Given the description of an element on the screen output the (x, y) to click on. 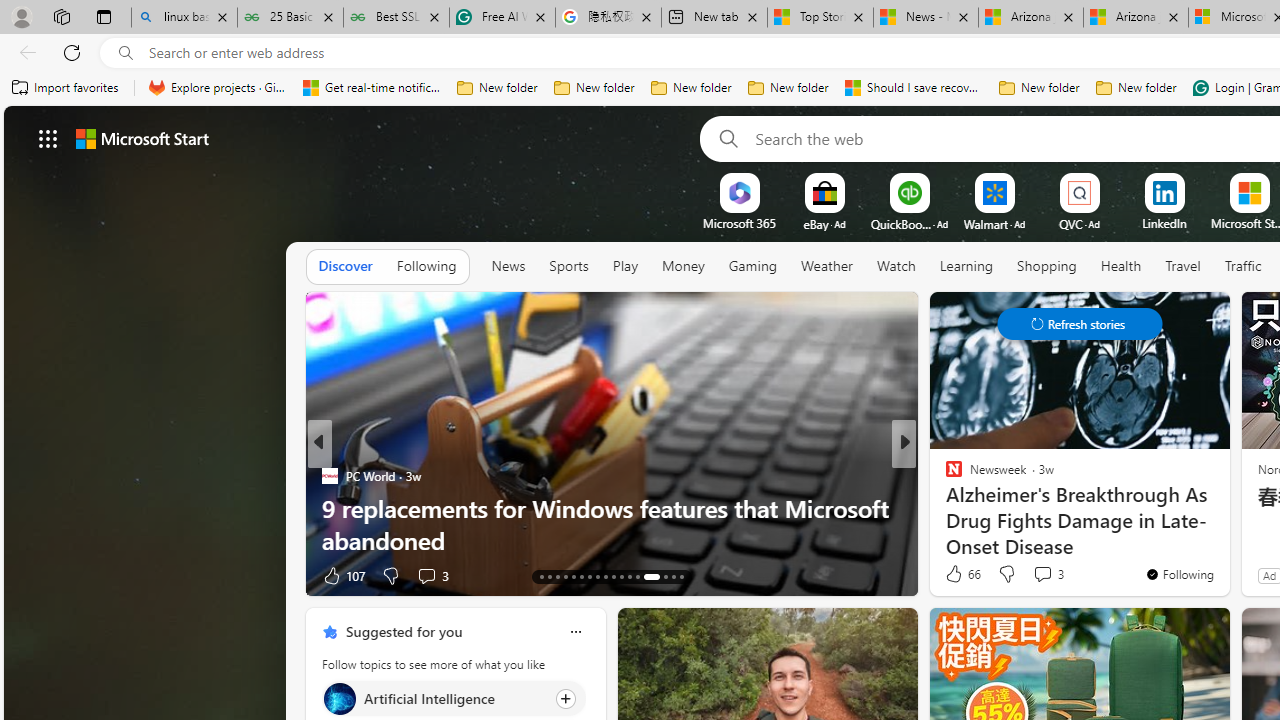
Traffic (1242, 267)
AutomationID: tab-19 (588, 576)
Travel (1183, 265)
Health (1121, 267)
Shopping (1046, 267)
Import favorites (65, 88)
linux basic - Search (183, 17)
View comments 3 Comment (1048, 574)
Weather (826, 265)
Artificial Intelligence (338, 697)
You're following The Weather Channel (253, 579)
Search icon (125, 53)
